Given the description of an element on the screen output the (x, y) to click on. 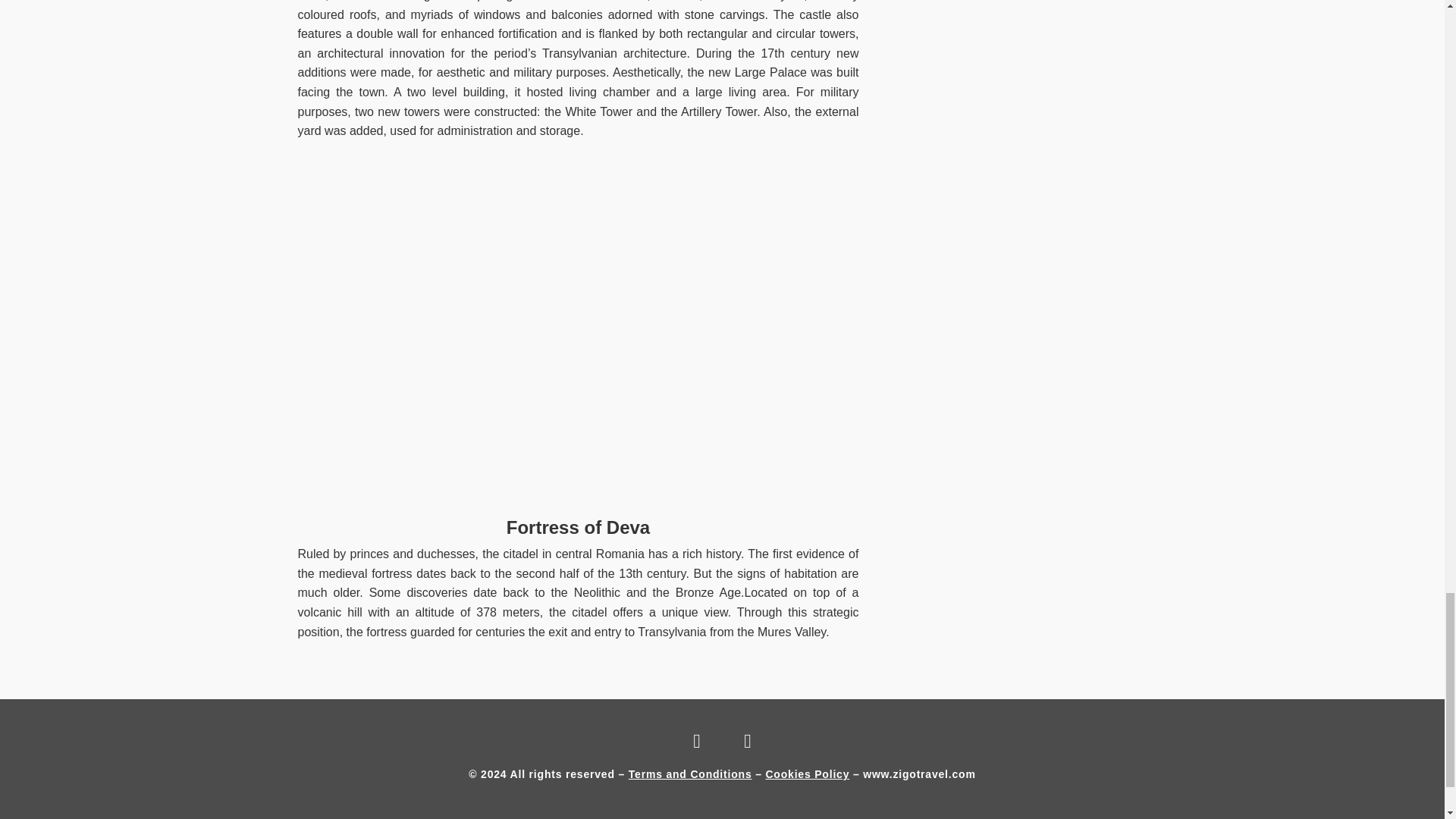
Cookies Policy (806, 774)
Terms and Conditions (690, 774)
